Given the description of an element on the screen output the (x, y) to click on. 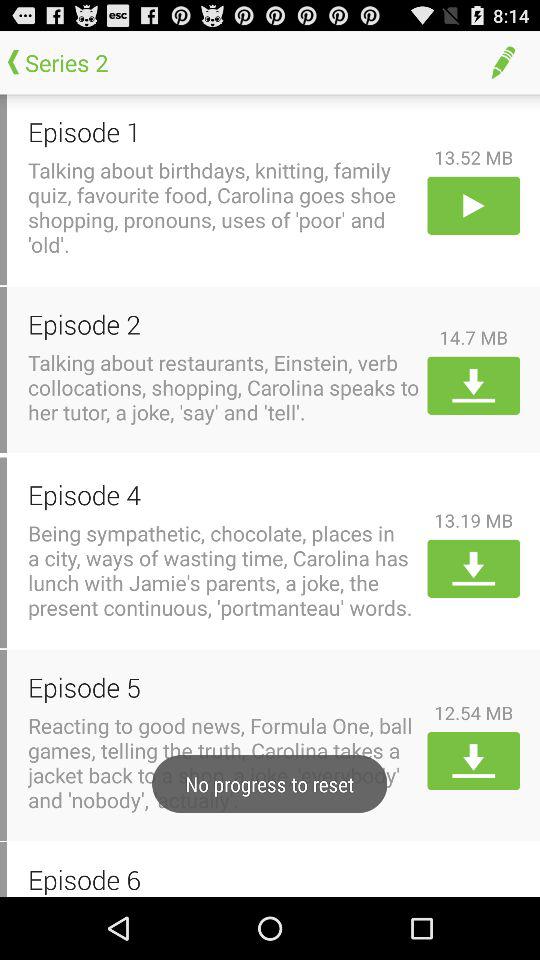
download episode (473, 385)
